Given the description of an element on the screen output the (x, y) to click on. 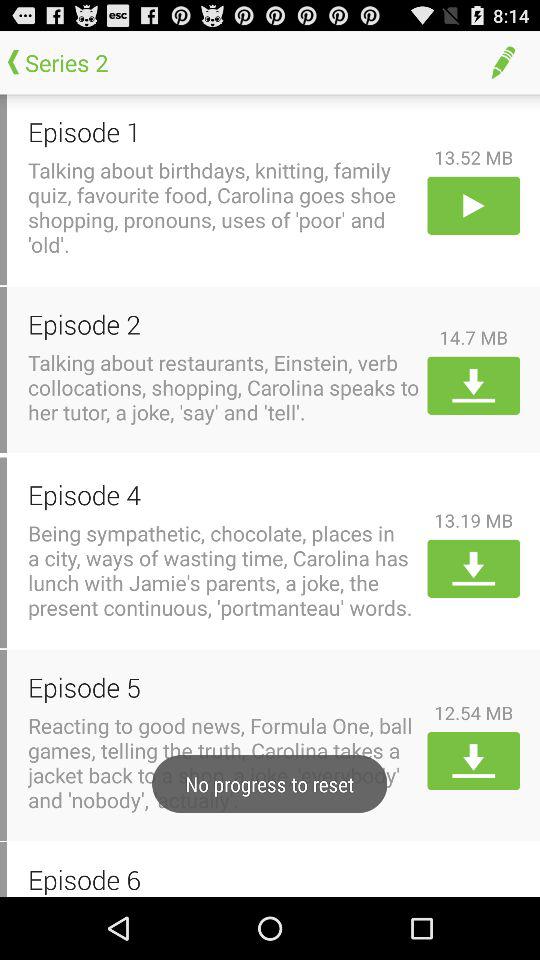
download episode (473, 385)
